Given the description of an element on the screen output the (x, y) to click on. 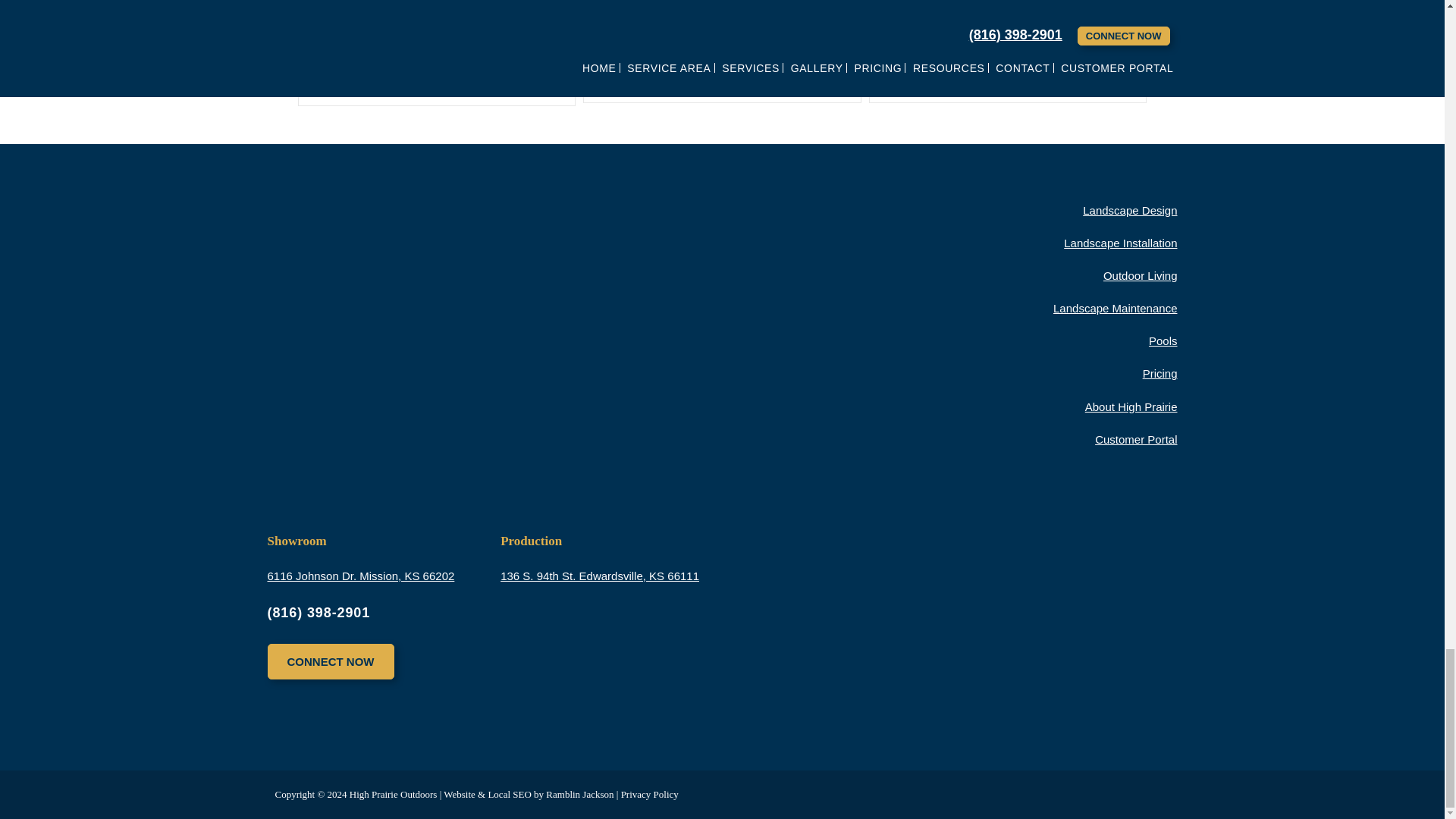
What is Hardscape Cleaning and Servicing? (986, 2)
